Given the description of an element on the screen output the (x, y) to click on. 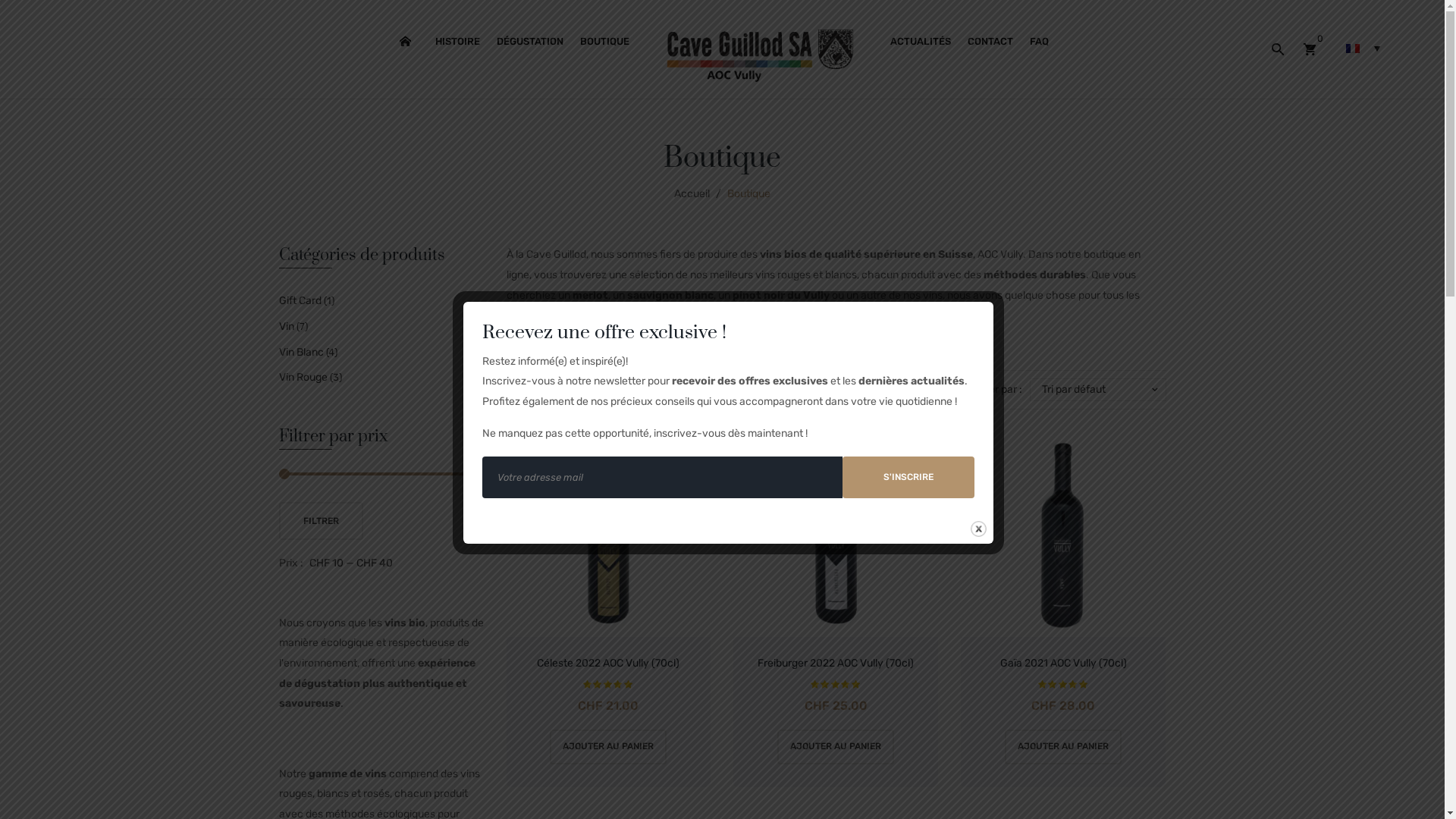
Vin Rouge Element type: text (303, 377)
AJOUTER AU PANIER Element type: text (835, 746)
Freiburger 2022 AOC Vully (70cl) Element type: text (835, 663)
Grid Element type: text (517, 389)
Accueil Element type: text (691, 193)
Close Element type: hover (978, 528)
AJOUTER AU PANIER Element type: text (607, 746)
FILTRER Element type: text (321, 520)
AJOUTER AU PANIER Element type: text (1062, 746)
BOUTIQUE Element type: text (604, 41)
HISTOIRE Element type: text (457, 41)
S'inscrire Element type: text (907, 477)
Gift Card Element type: text (300, 301)
Vin Element type: text (286, 326)
FAQ Element type: text (1038, 41)
Vin Blanc Element type: text (301, 352)
0 Element type: text (1309, 48)
List Element type: text (540, 389)
CONTACT Element type: text (990, 41)
